Given the description of an element on the screen output the (x, y) to click on. 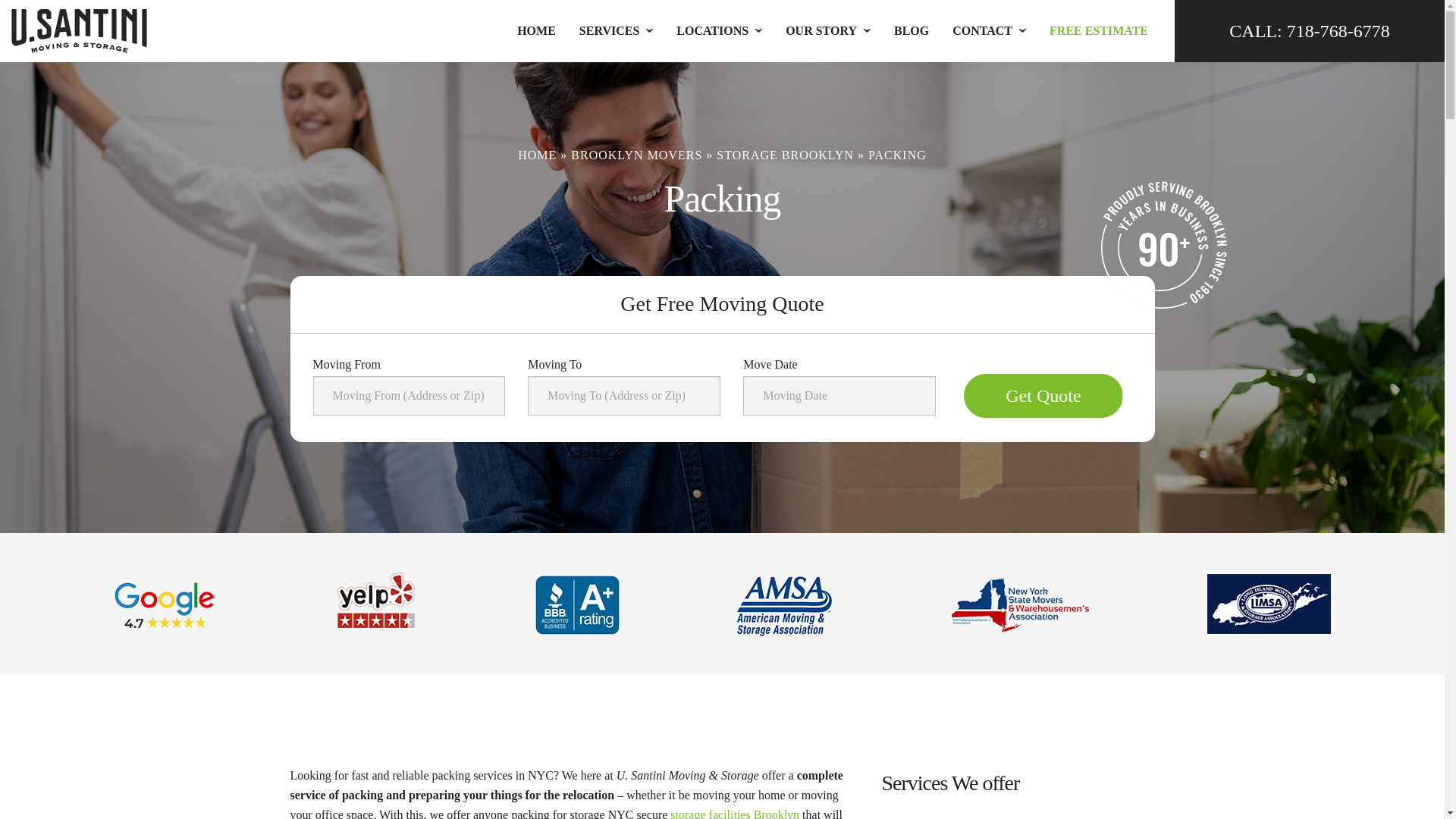
SERVICES (609, 30)
HOME (536, 30)
LOCATIONS (712, 30)
Get Quote (1042, 395)
